Given the description of an element on the screen output the (x, y) to click on. 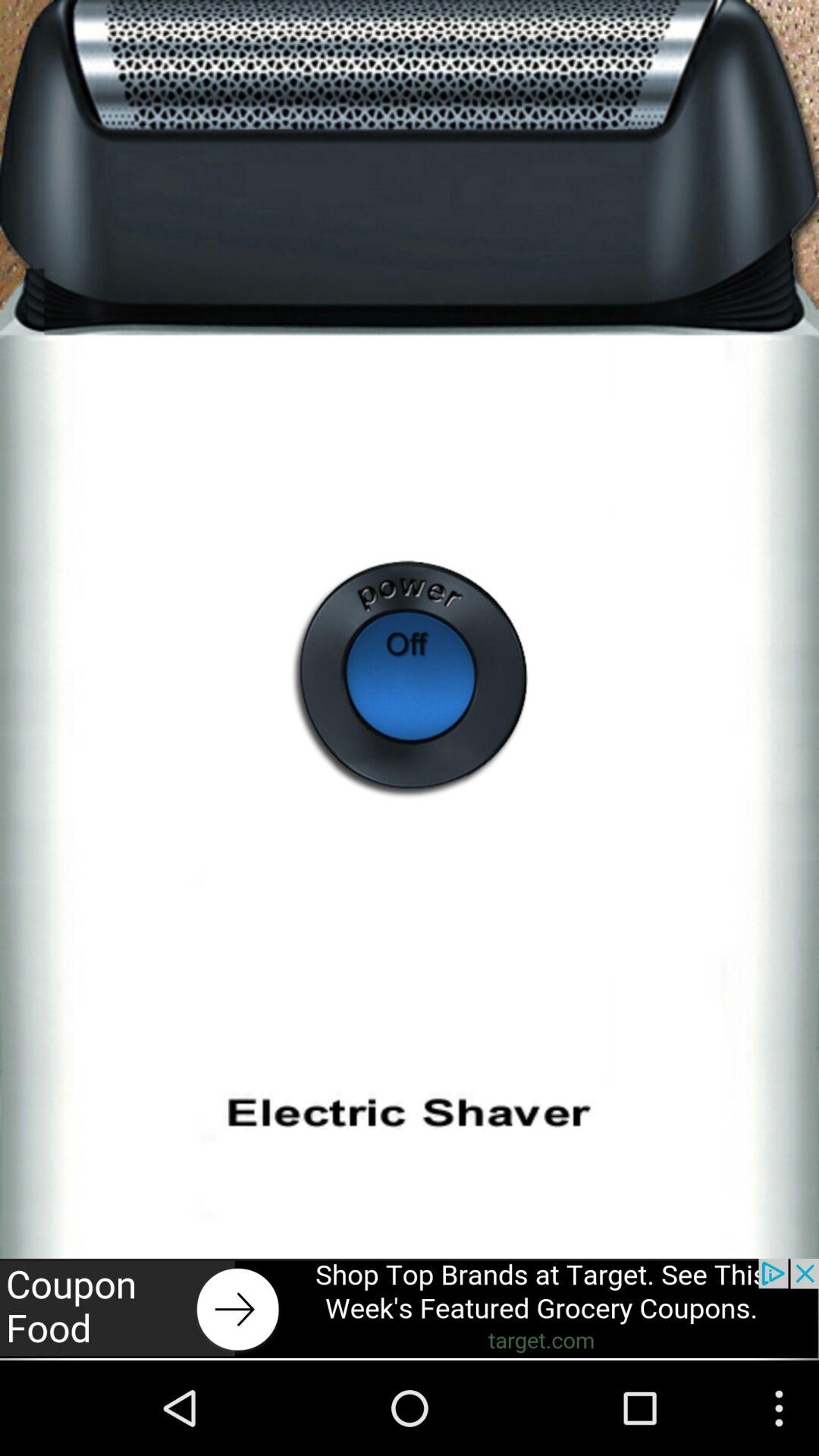
toggle power (409, 679)
